Given the description of an element on the screen output the (x, y) to click on. 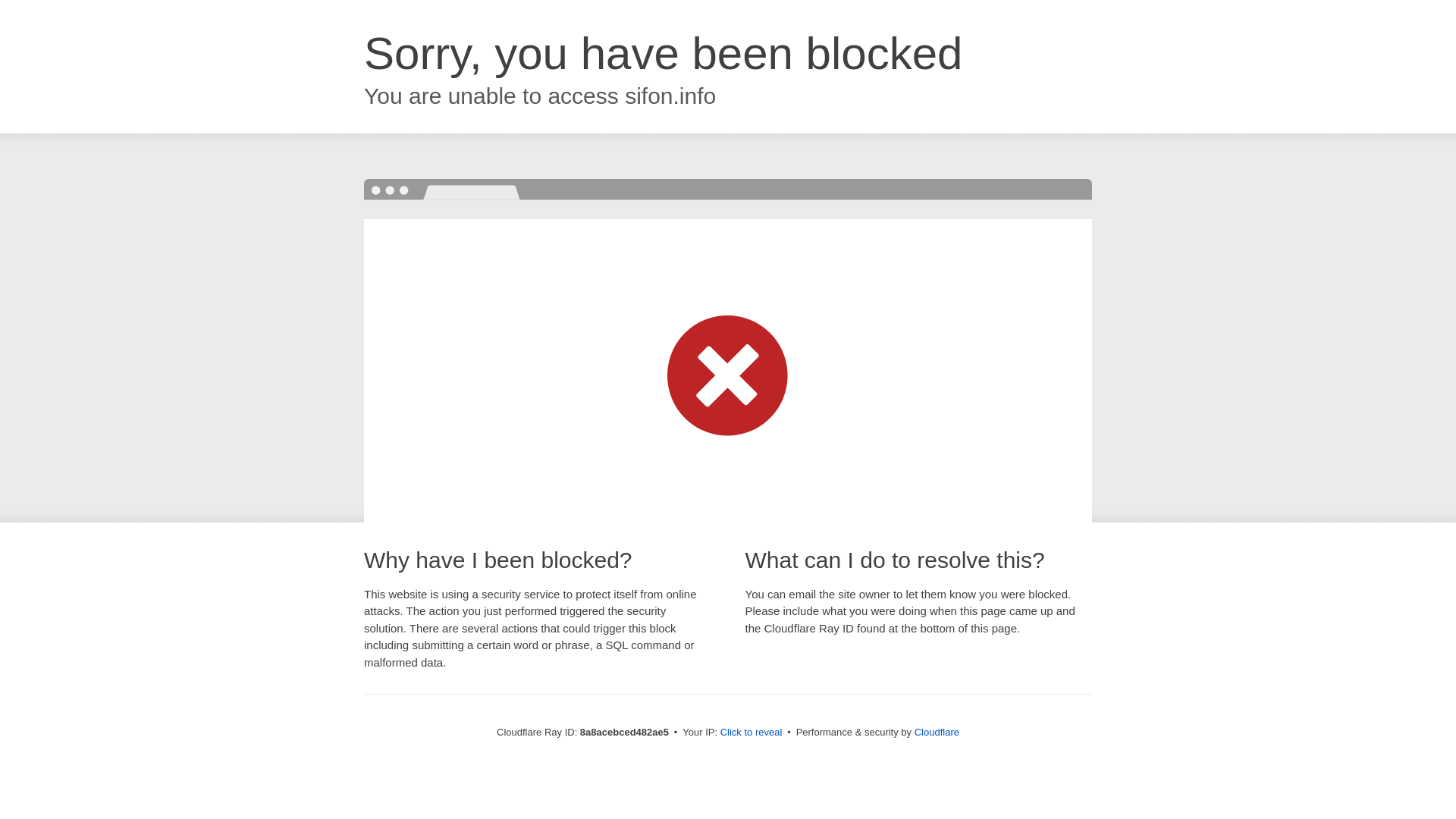
Cloudflare (936, 731)
Click to reveal (751, 732)
